Given the description of an element on the screen output the (x, y) to click on. 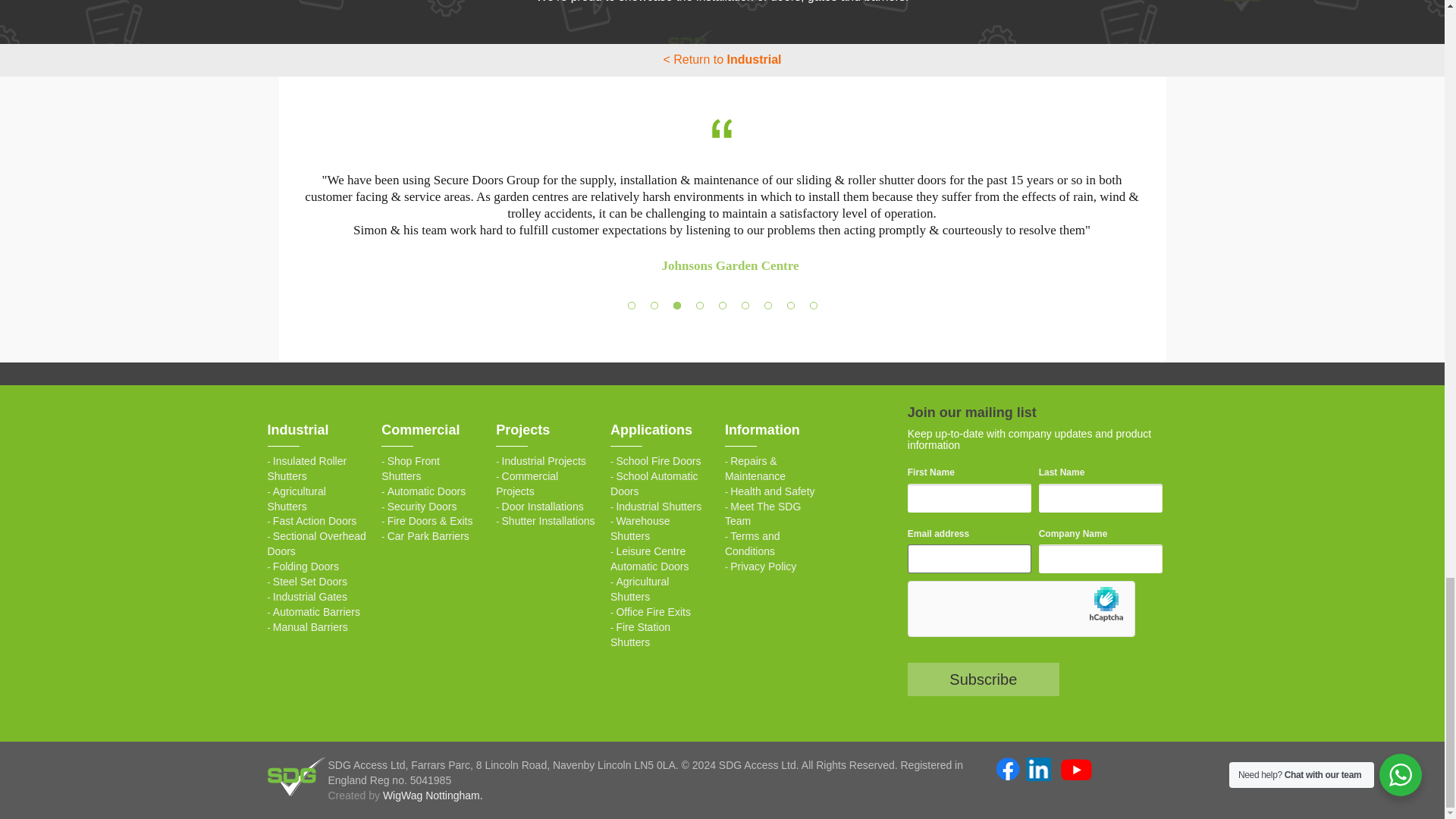
Insulated Roller Shutters (306, 468)
Subscribe (983, 679)
SDG UK Testimonials (722, 128)
Return to Industrial (721, 59)
Agricultural Shutters (295, 498)
